Given the description of an element on the screen output the (x, y) to click on. 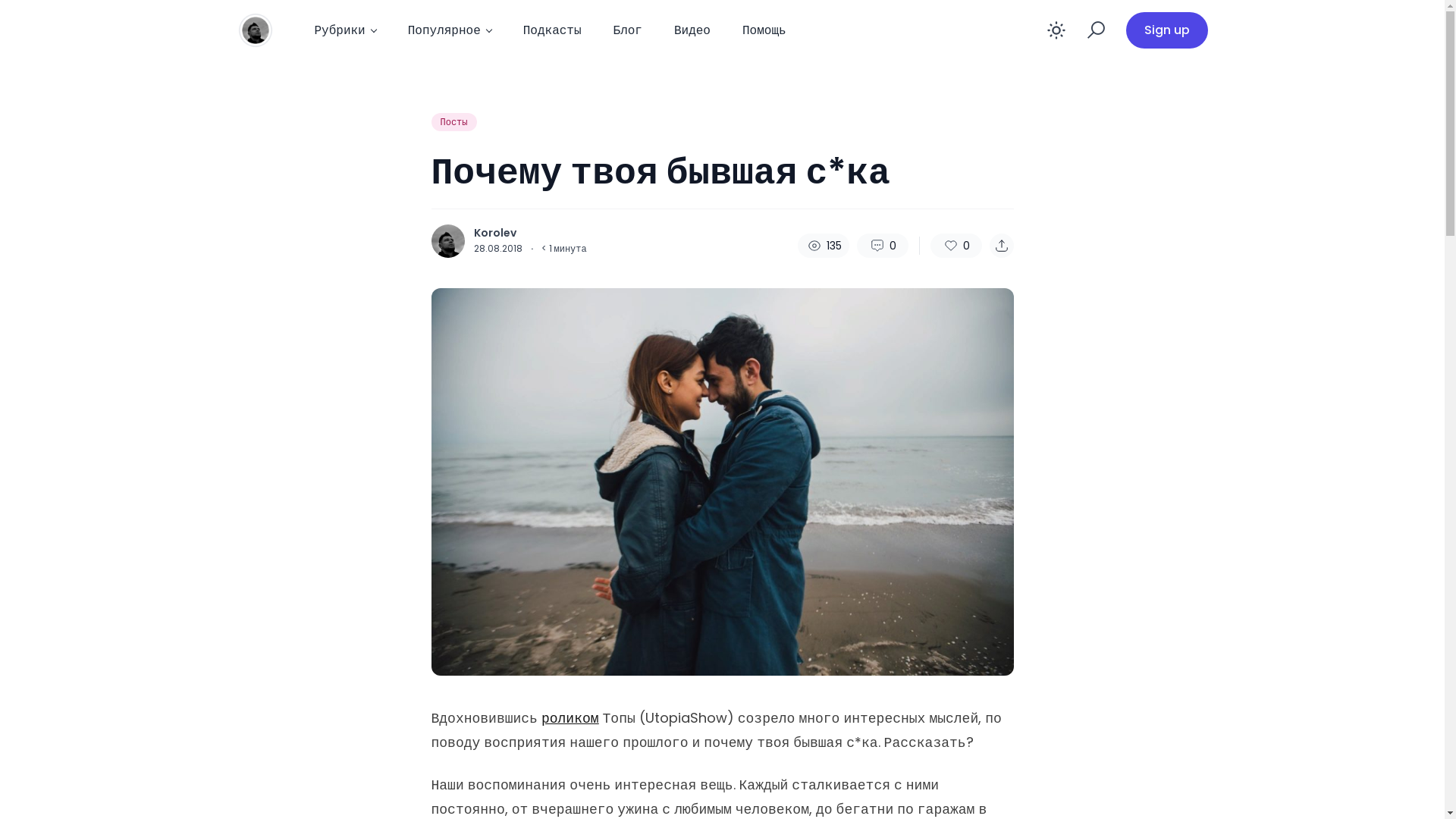
Korolev Element type: text (494, 232)
0 Element type: text (955, 245)
Share with Element type: hover (1000, 245)
0 Element type: text (882, 245)
Sign up Element type: text (1166, 30)
Enable dark mode Element type: text (1055, 30)
